Given the description of an element on the screen output the (x, y) to click on. 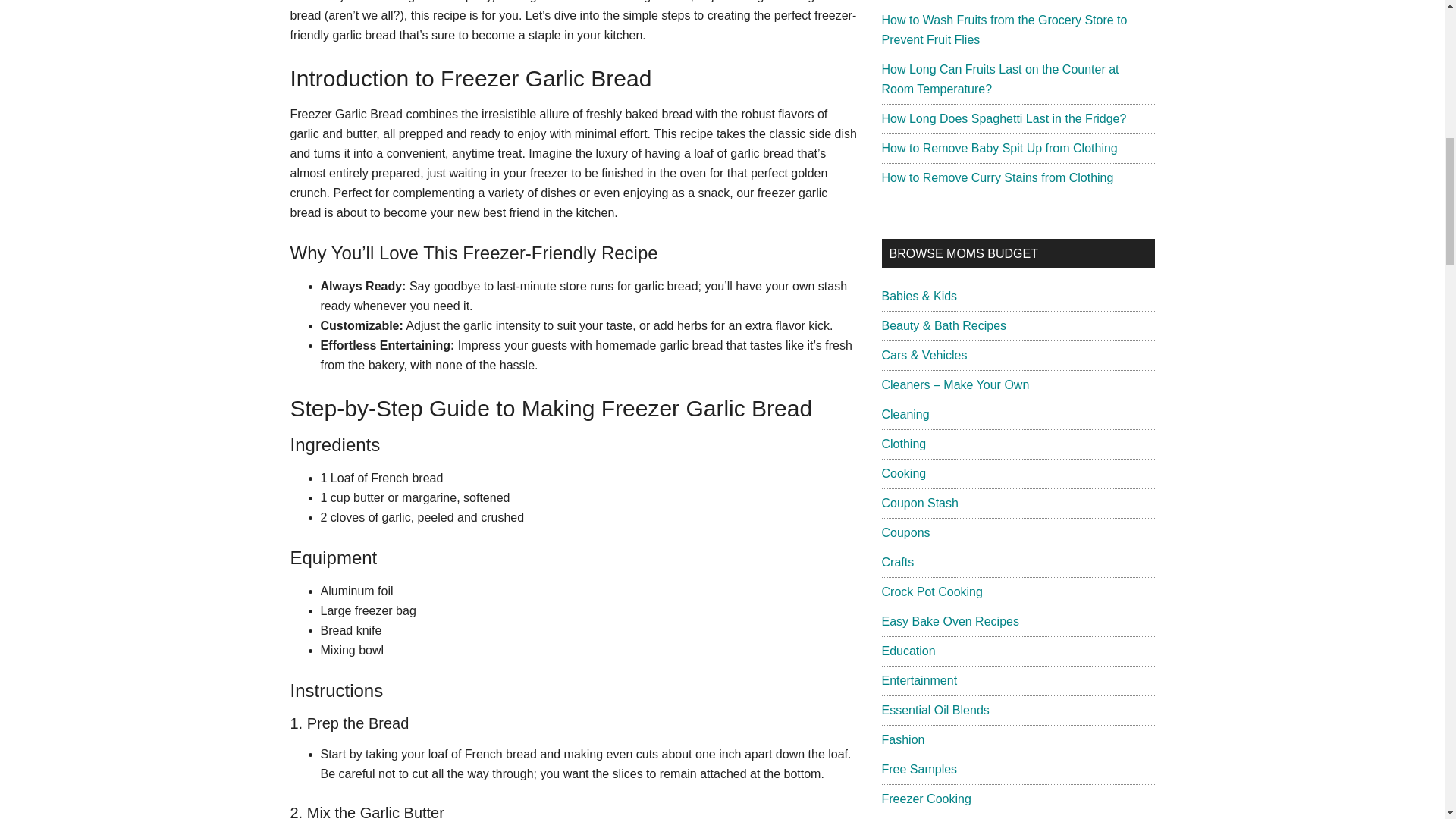
Coupons (905, 532)
Coupon Stash (919, 502)
Cleaning (904, 413)
How Long Can Fruits Last on the Counter at Room Temperature? (999, 79)
Cooking (903, 472)
Clothing (903, 443)
How to Remove Baby Spit Up from Clothing (998, 147)
How Long Does Spaghetti Last in the Fridge? (1002, 118)
How to Remove Curry Stains from Clothing (996, 177)
